Given the description of an element on the screen output the (x, y) to click on. 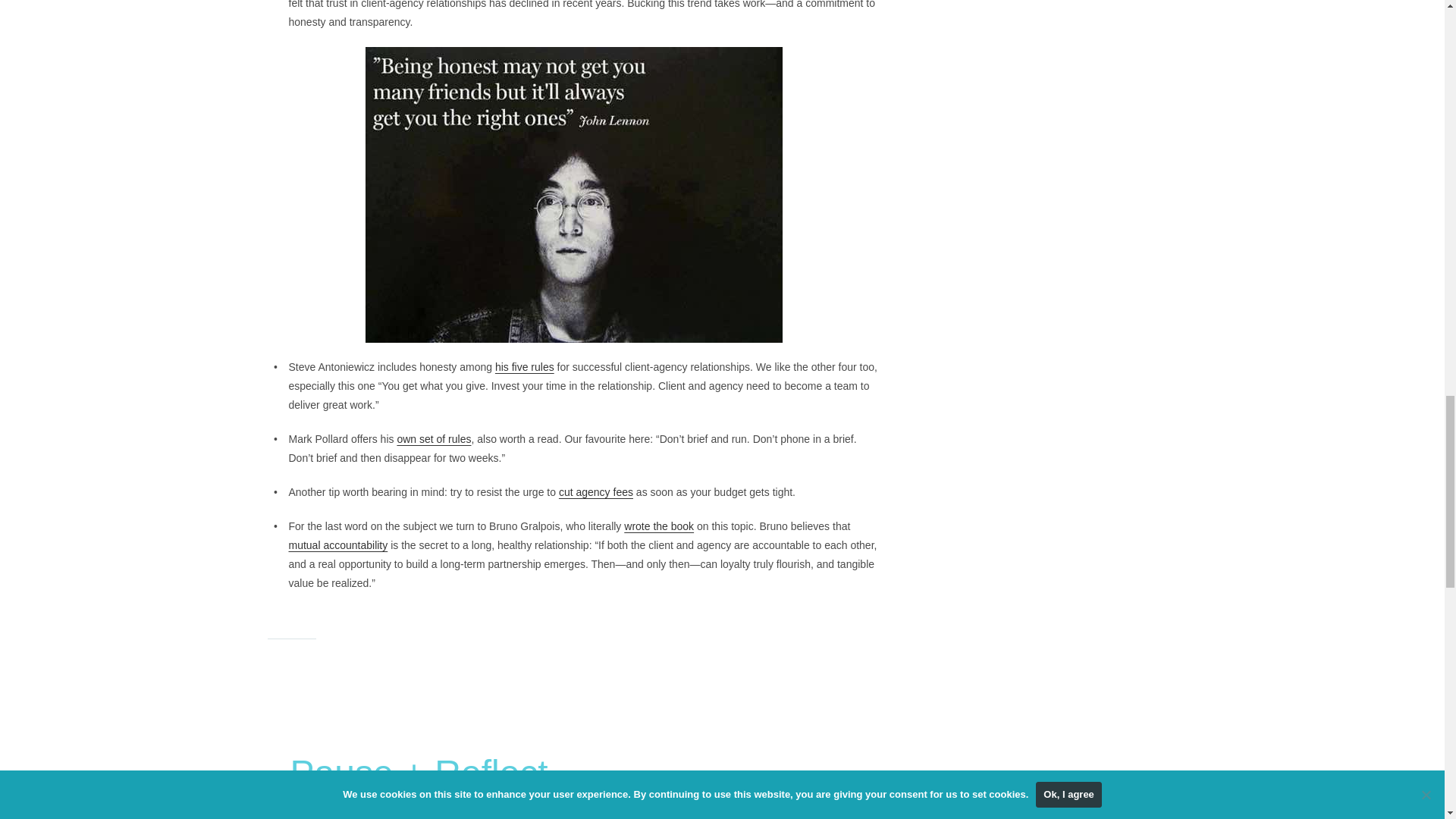
cut agency fees (596, 491)
own set of rules (433, 439)
his five rules (524, 367)
